Given the description of an element on the screen output the (x, y) to click on. 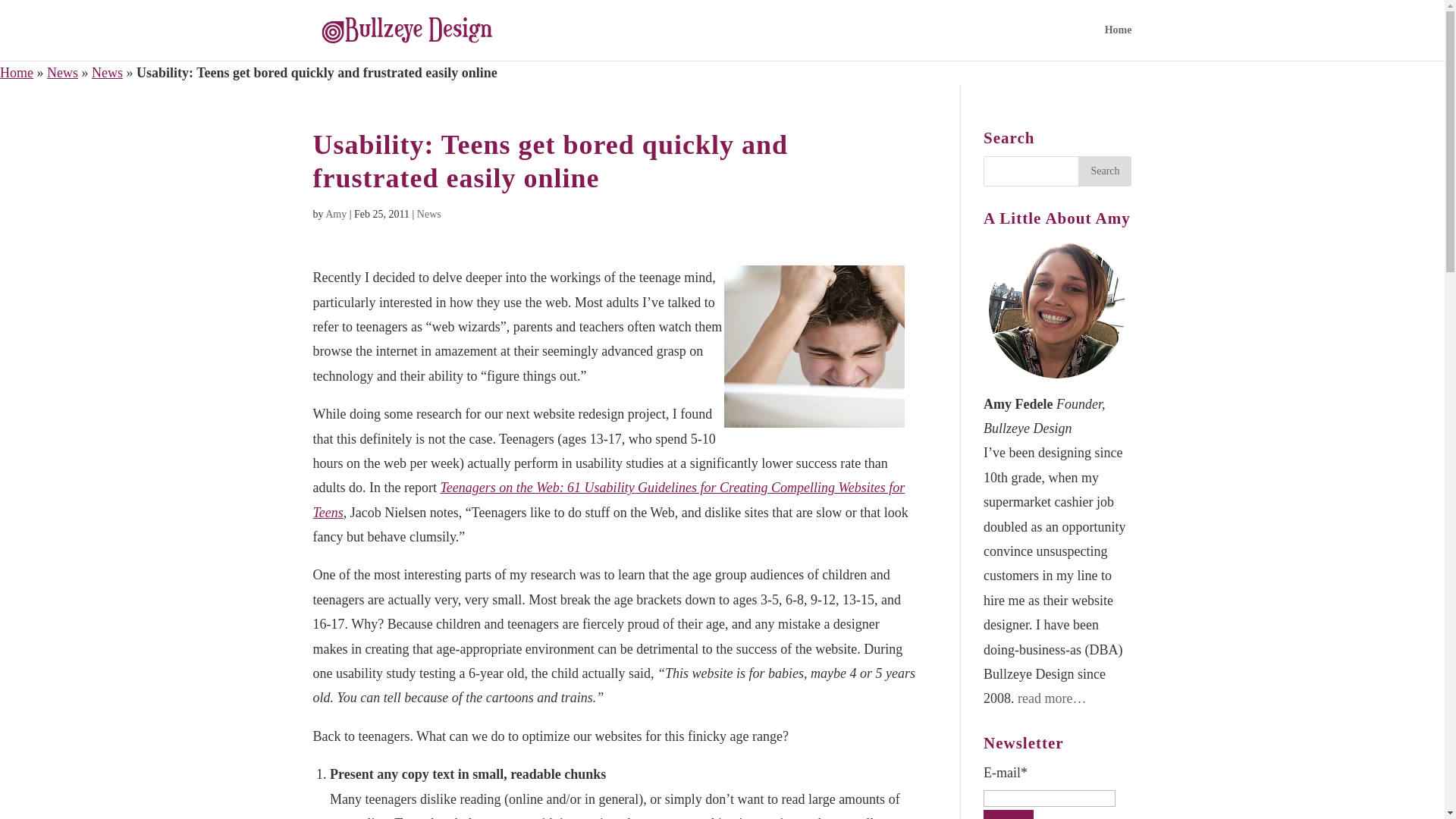
Search (1104, 171)
Home (16, 72)
teen (813, 346)
Join (1008, 814)
News (106, 72)
Posts by Amy (335, 214)
News (62, 72)
Search (1104, 171)
News (428, 214)
Join (1008, 814)
